Given the description of an element on the screen output the (x, y) to click on. 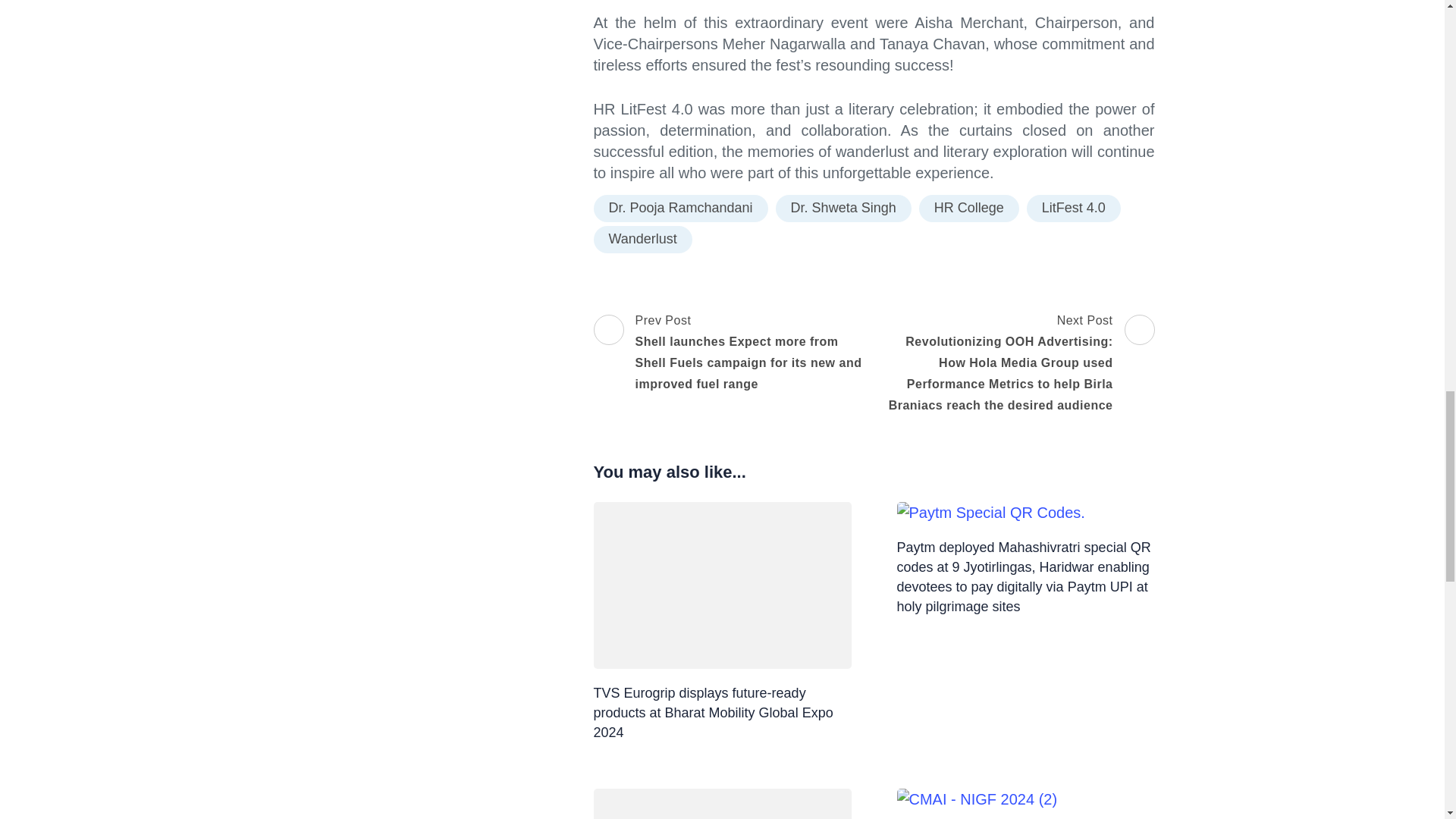
Dr. Pooja Ramchandani (679, 207)
Dr. Shweta Singh (843, 207)
Wanderlust (641, 239)
LitFest 4.0 (1073, 207)
HR College (968, 207)
